Given the description of an element on the screen output the (x, y) to click on. 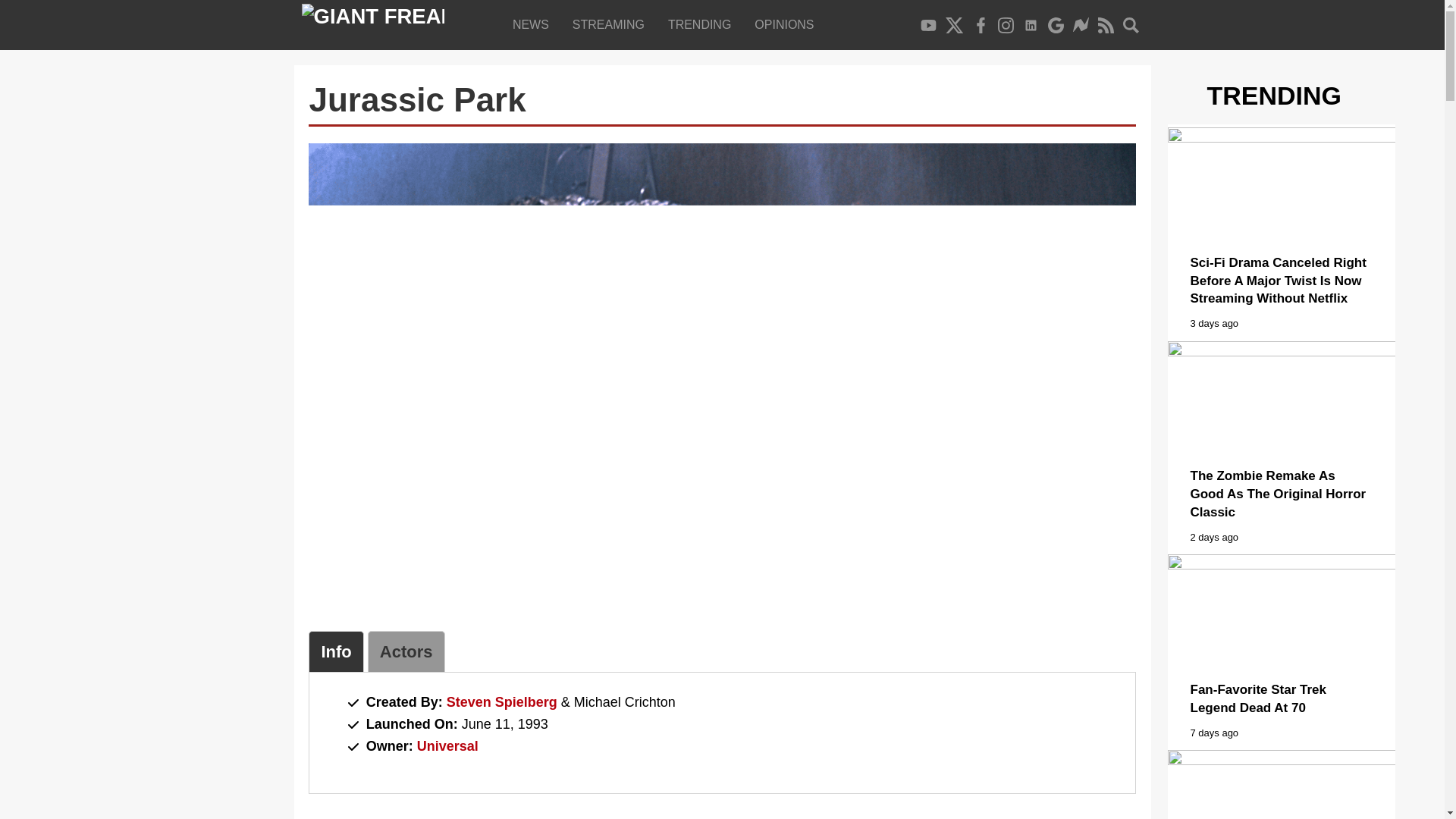
Entertainment News (533, 24)
Streaming (611, 24)
Universal (447, 745)
Steven Spielberg (501, 702)
NEWS (533, 24)
Trending (702, 24)
STREAMING (611, 24)
TRENDING (702, 24)
OPINIONS (786, 24)
